Given the description of an element on the screen output the (x, y) to click on. 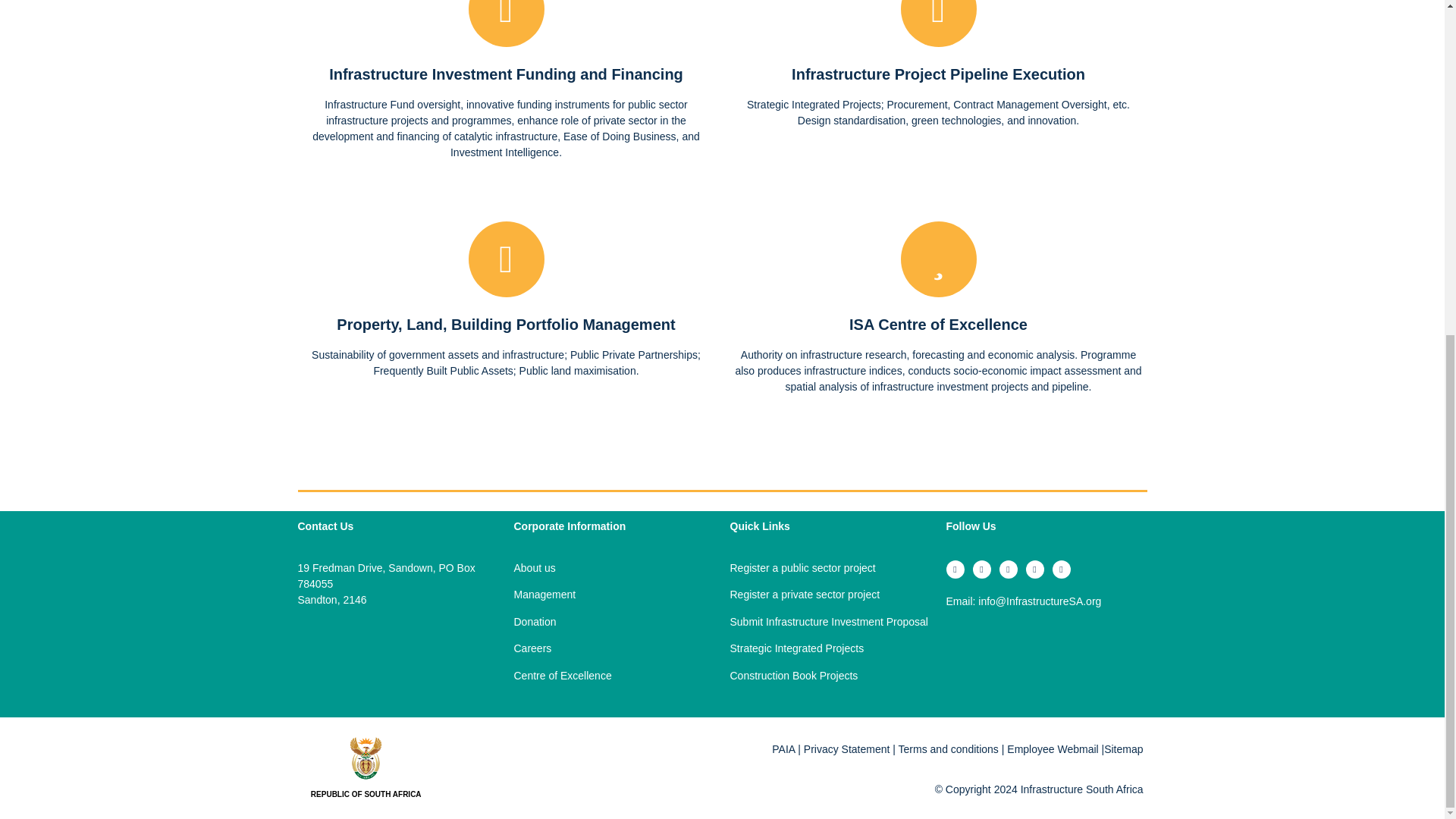
19 Fredman Drive, Sandown, PO Box 784055 Sandton, 2146 (390, 671)
